Given the description of an element on the screen output the (x, y) to click on. 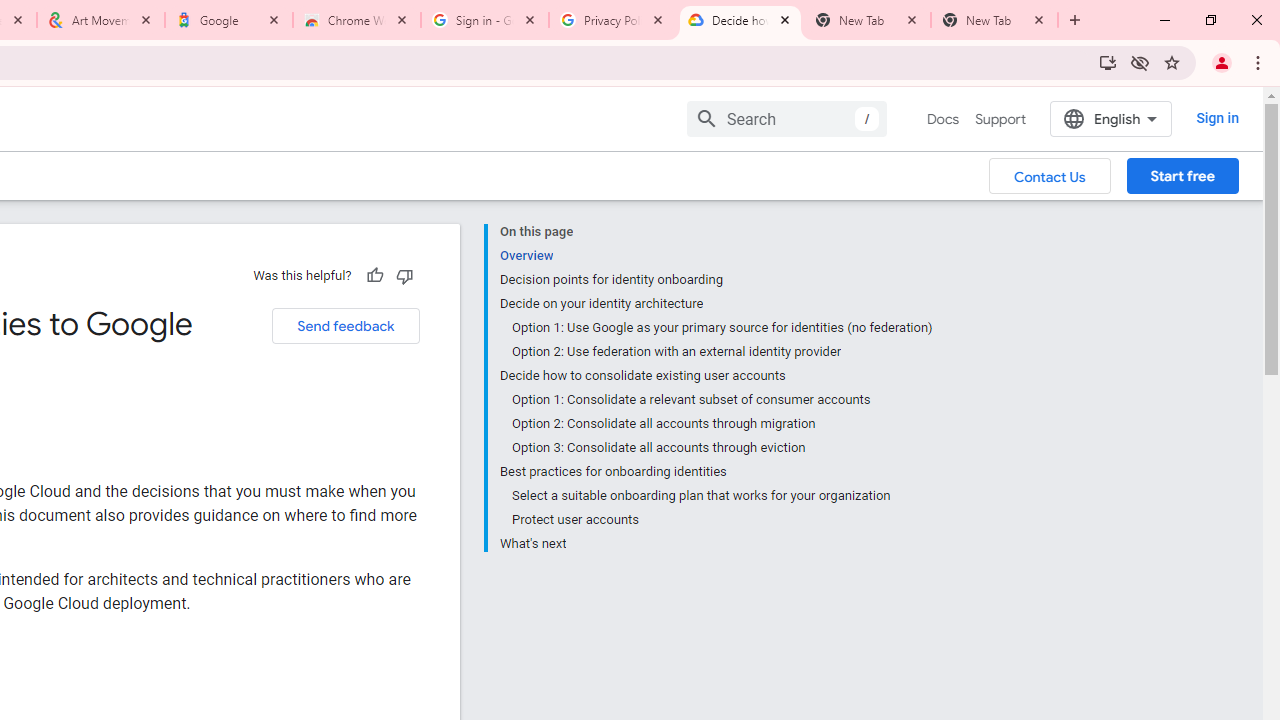
Decide on your identity architecture (716, 304)
Option 3: Consolidate all accounts through eviction (721, 448)
Helpful (374, 275)
Option 2: Consolidate all accounts through migration (721, 423)
Sign in - Google Accounts (485, 20)
Option 2: Use federation with an external identity provider (721, 351)
